Given the description of an element on the screen output the (x, y) to click on. 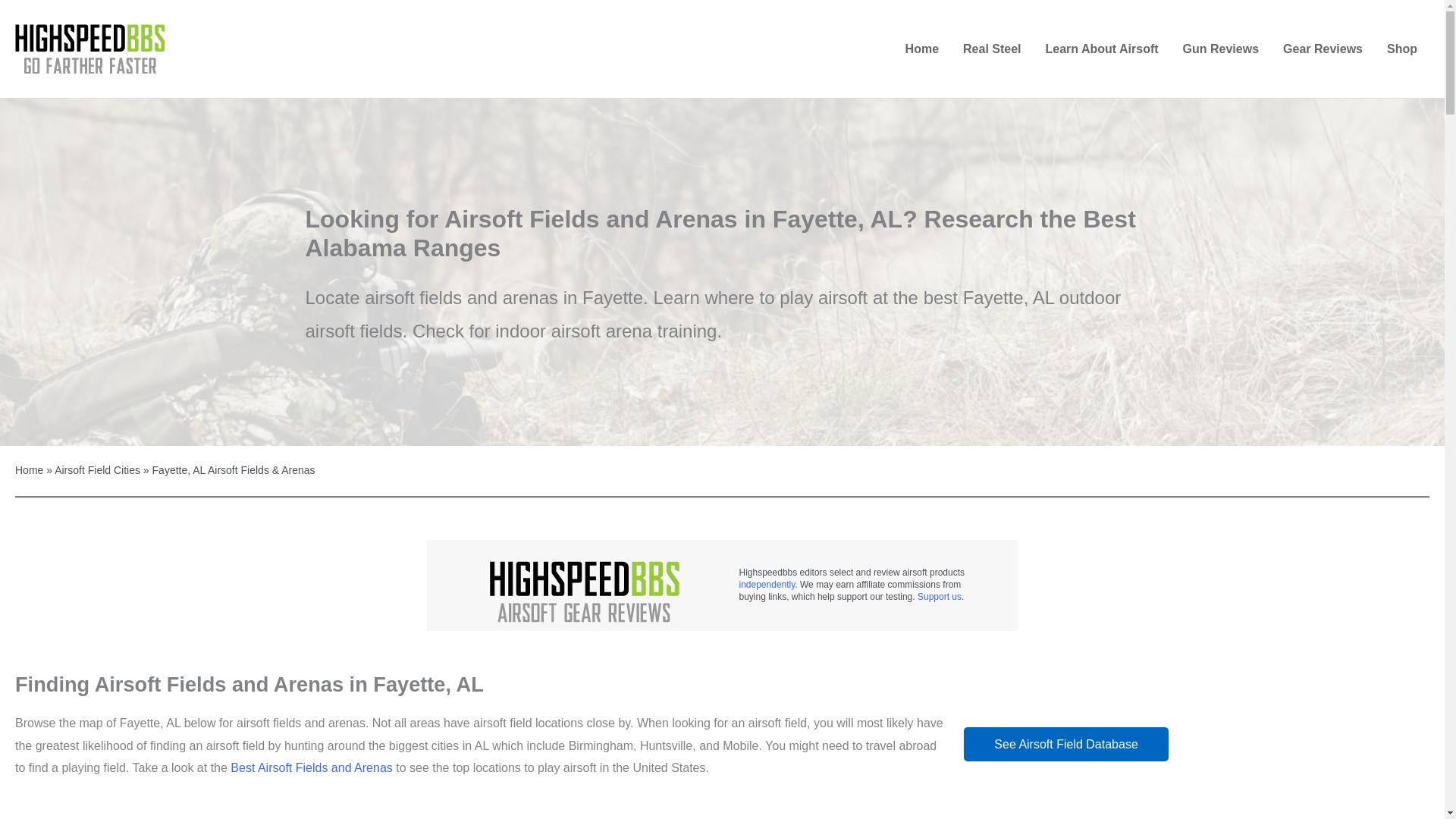
Gun Reviews (1220, 49)
Learn About Airsoft (1101, 49)
Home (921, 49)
Real Steel (991, 49)
Gear Reviews (1322, 49)
